Given the description of an element on the screen output the (x, y) to click on. 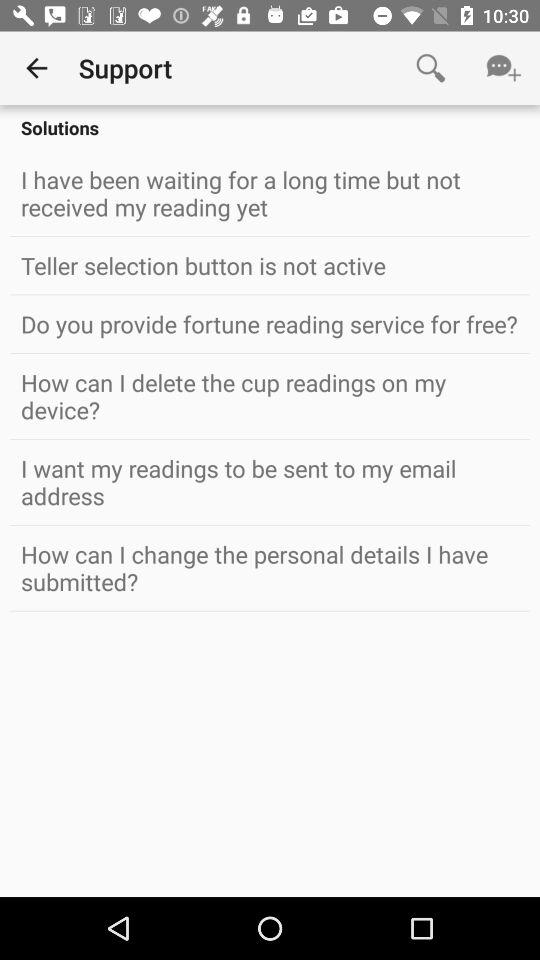
jump until the do you provide icon (269, 324)
